Given the description of an element on the screen output the (x, y) to click on. 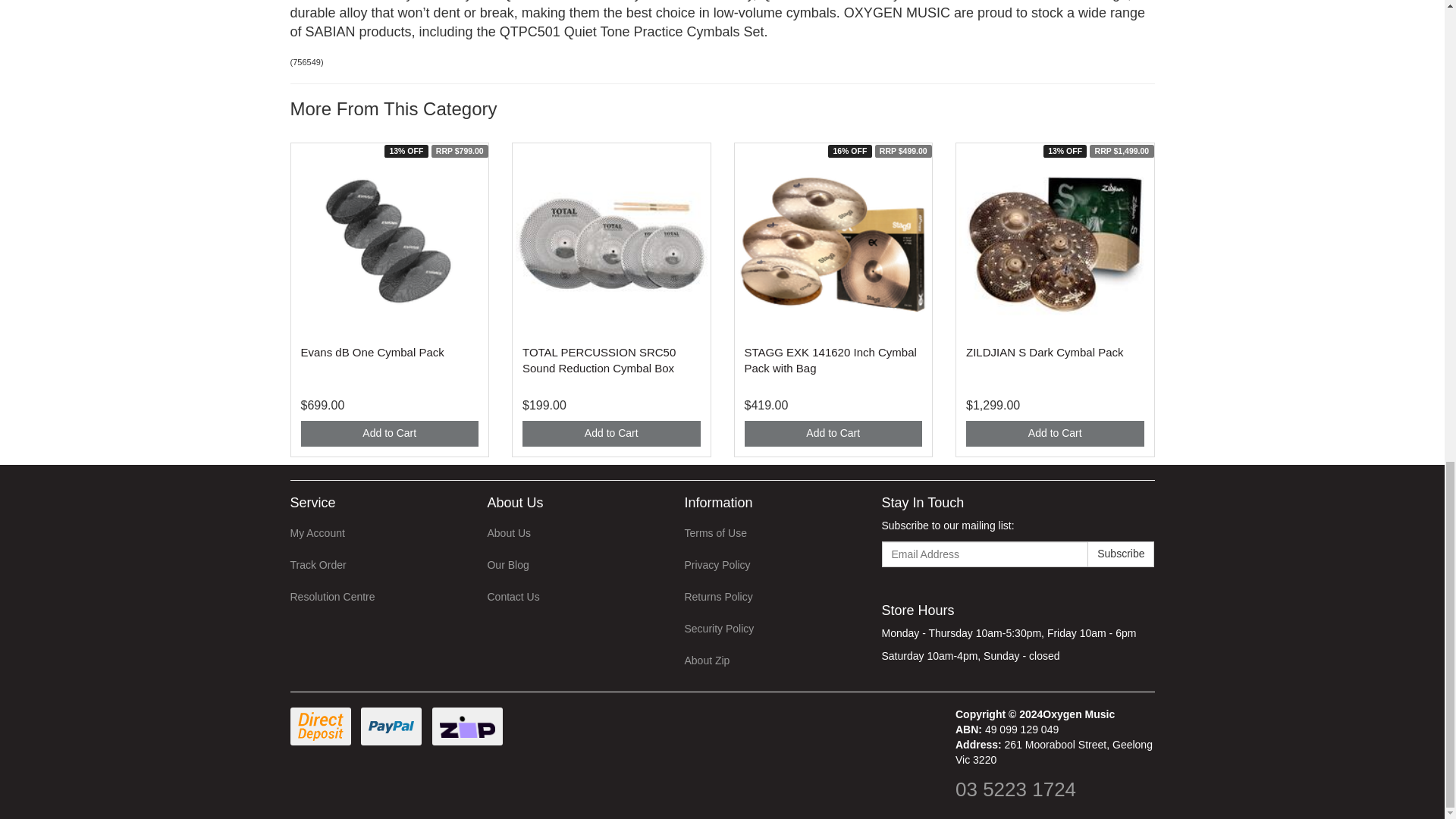
Evans dB One Cymbal Pack (371, 351)
TOTAL PERCUSSION SRC50 Sound Reduction Cymbal Box Set (598, 359)
Add to Cart (833, 433)
STAGG EXK 141620 Inch Cymbal Pack with Bag (830, 359)
ZILDJIAN S Dark Cymbal Pack (1045, 351)
Add to Cart (1055, 433)
Subscribe (1120, 554)
Add to Cart (389, 433)
Add to Cart (611, 433)
